Given the description of an element on the screen output the (x, y) to click on. 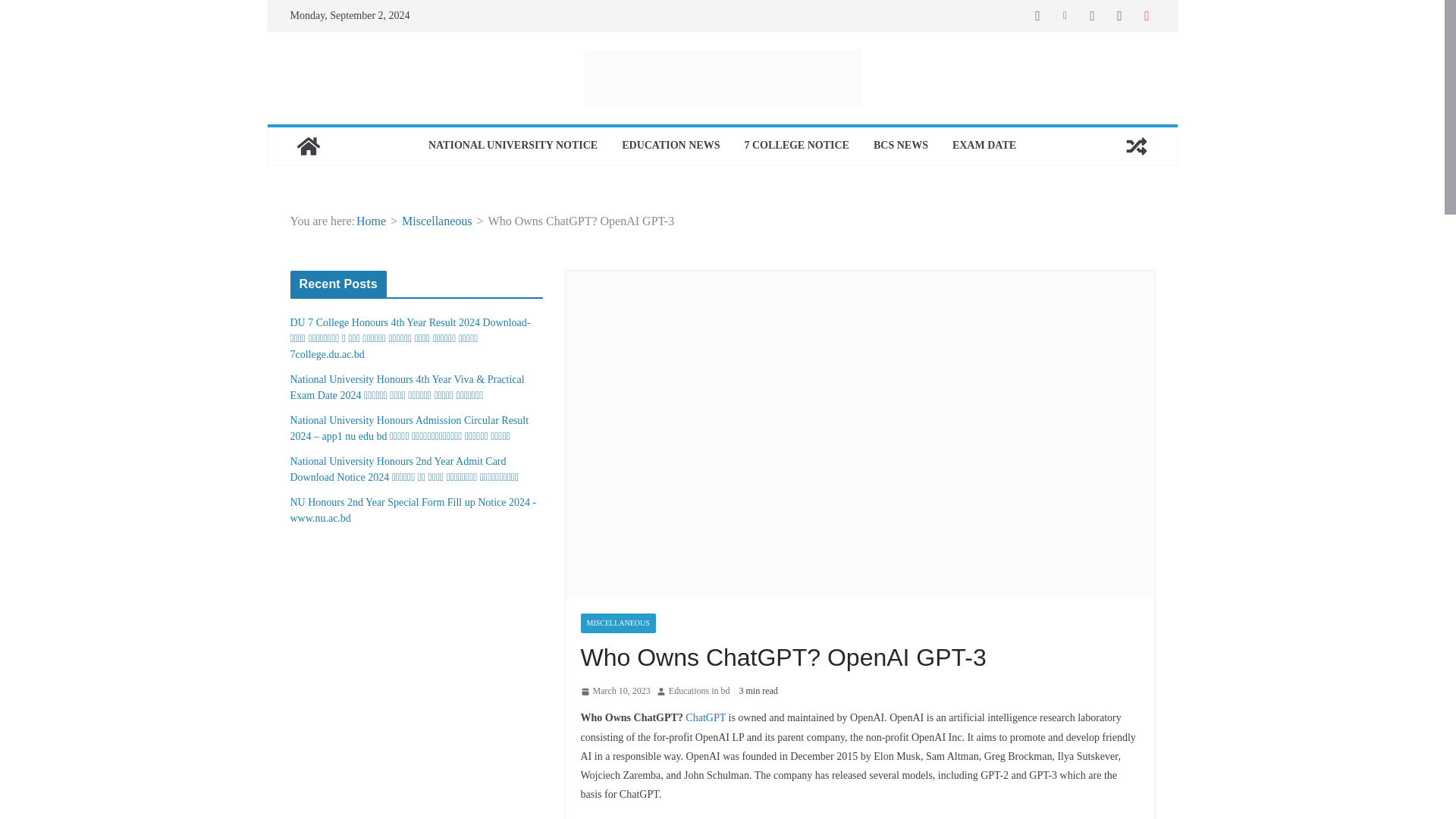
Educations in bd (699, 691)
View a random post (1136, 145)
7 COLLEGE NOTICE (796, 146)
March 10, 2023 (615, 691)
Miscellaneous (436, 220)
MISCELLANEOUS (618, 623)
Educations in bd (699, 691)
EDUCATION NEWS (670, 146)
11:03 PM (615, 691)
Home (370, 220)
